Given the description of an element on the screen output the (x, y) to click on. 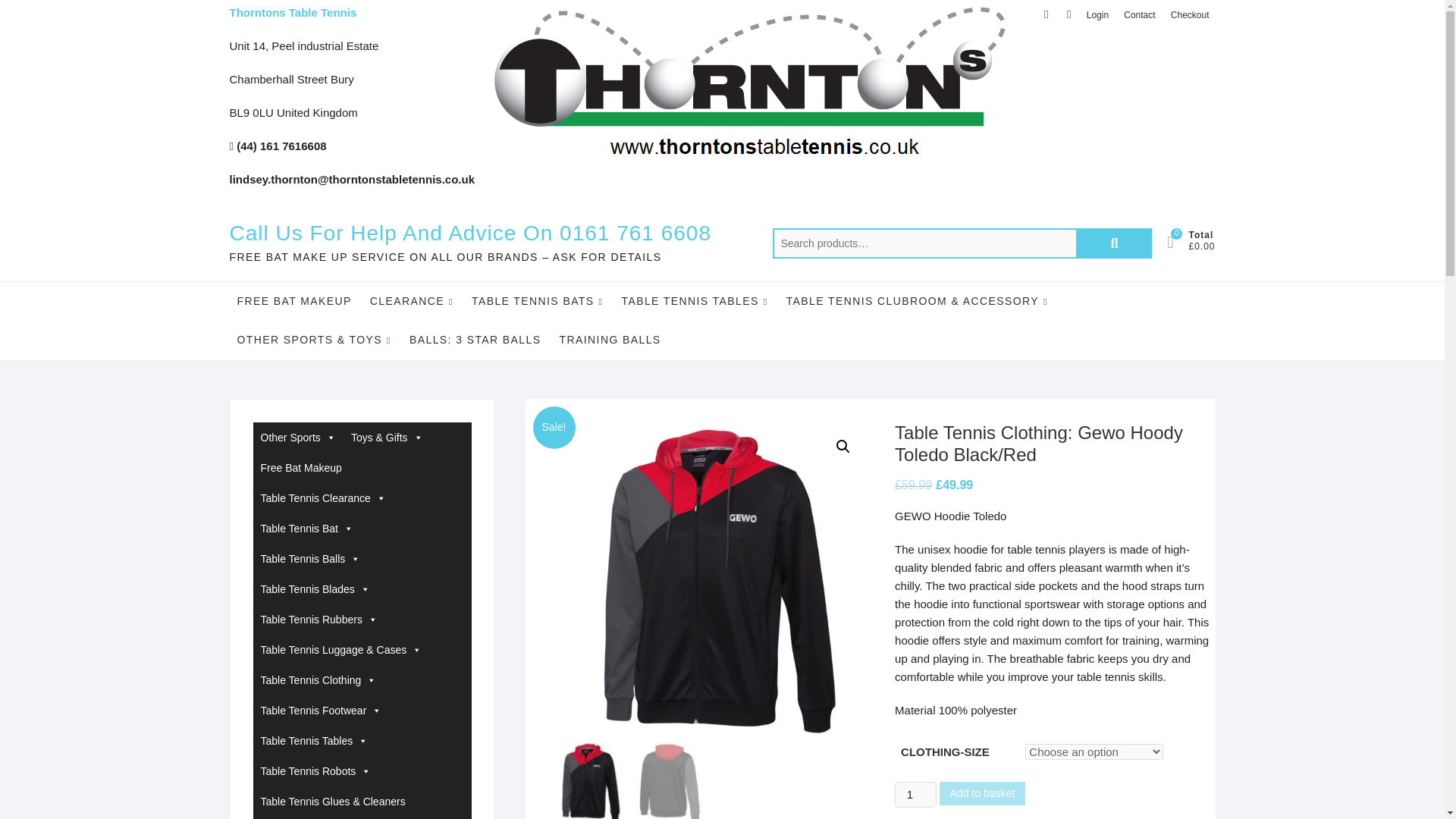
FREE BAT MAKEUP (293, 300)
Thorntons Table Tennis (292, 11)
Facebook (1046, 14)
CLEARANCE (411, 301)
Checkout (1189, 15)
Search (1113, 243)
TABLE TENNIS BATS (537, 301)
Call Us For Help And Advice On 0161 761 6608 (469, 233)
Contact (1139, 15)
toledo hoody red (707, 581)
